Given the description of an element on the screen output the (x, y) to click on. 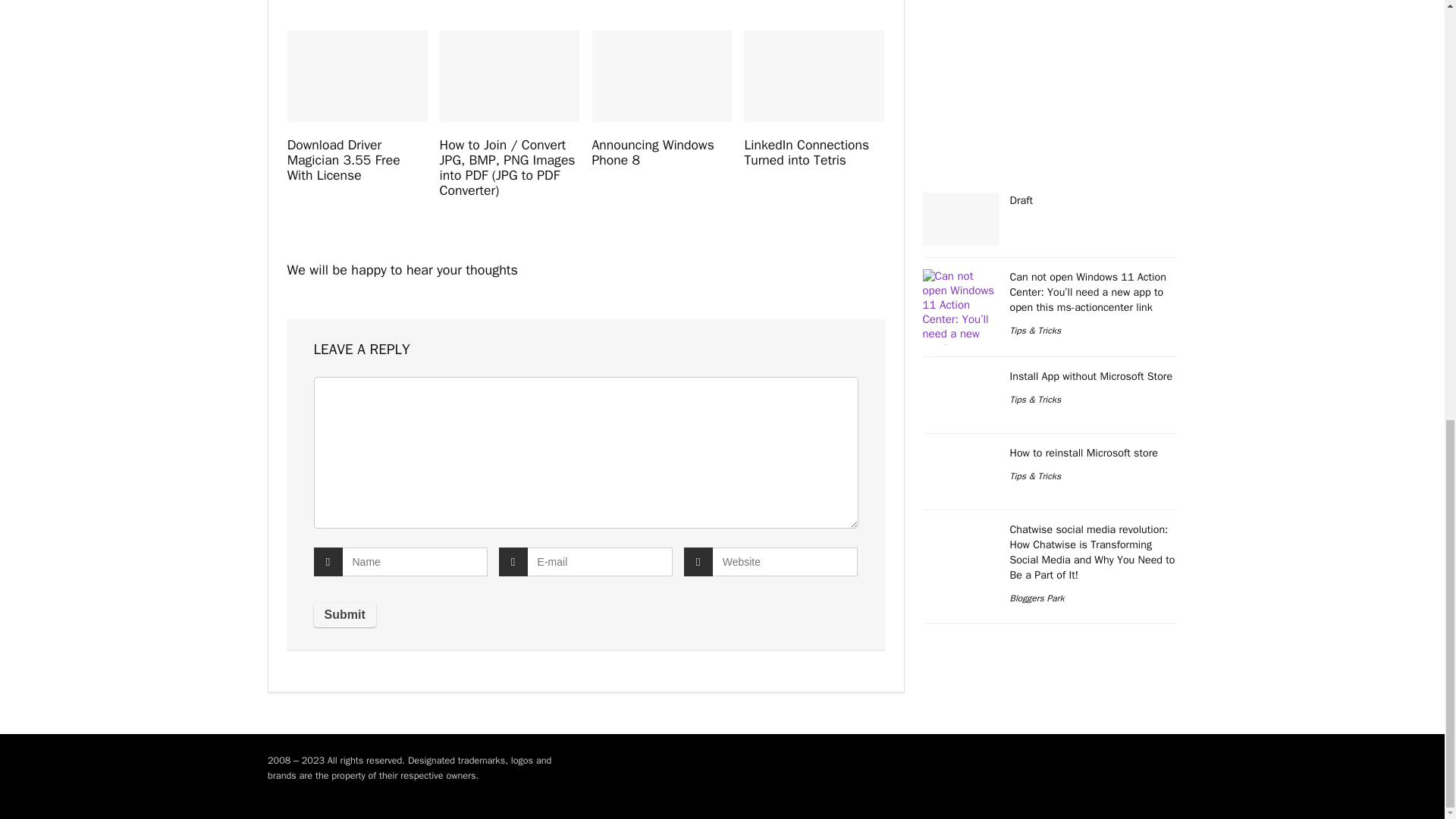
Submit (344, 614)
Download Driver Magician 3.55 Free With License (343, 159)
LinkedIn Connections Turned into Tetris (806, 152)
Submit (344, 614)
Announcing Windows Phone 8 (652, 152)
